Given the description of an element on the screen output the (x, y) to click on. 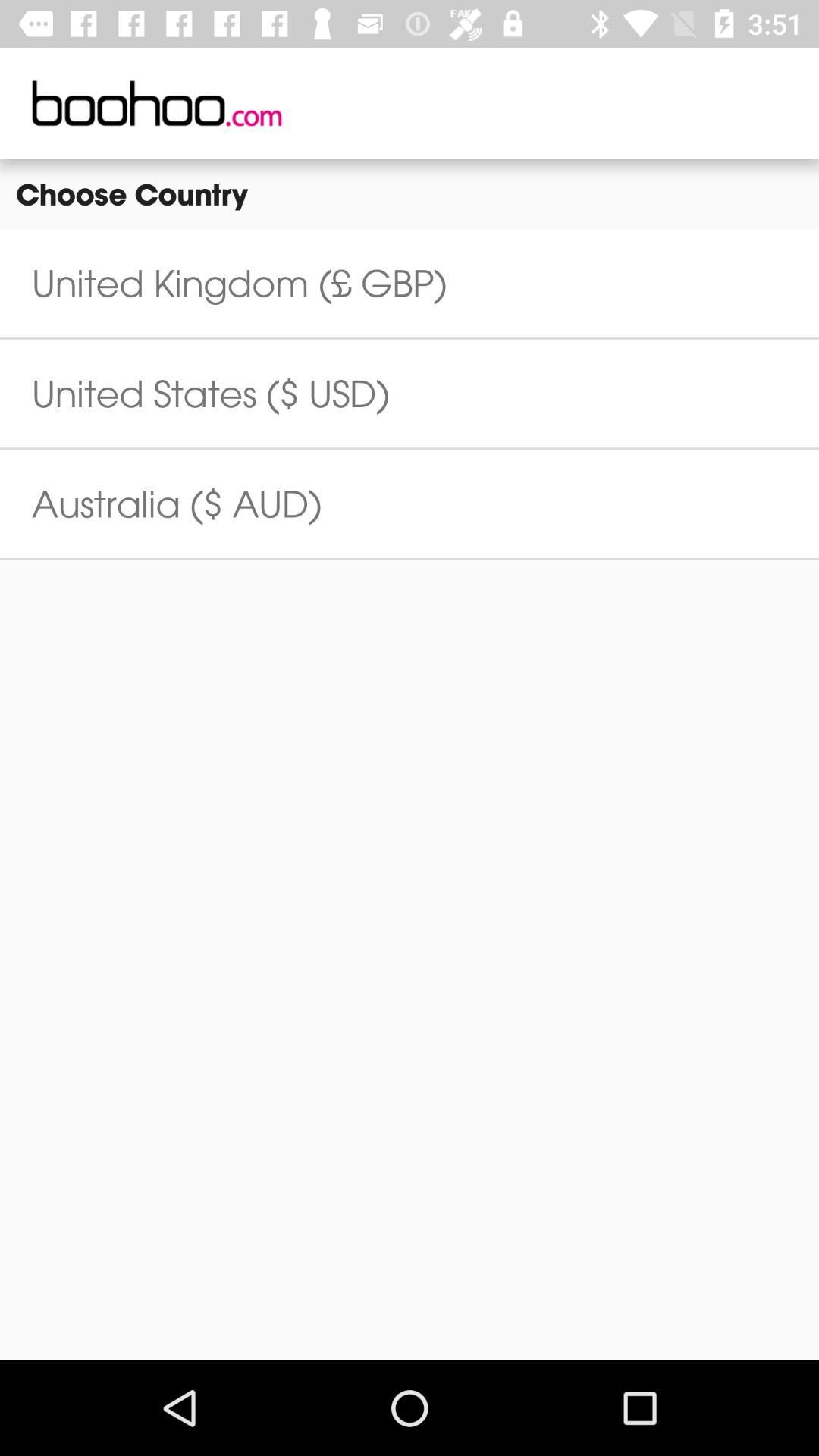
flip until united states ($ usd) item (210, 393)
